Given the description of an element on the screen output the (x, y) to click on. 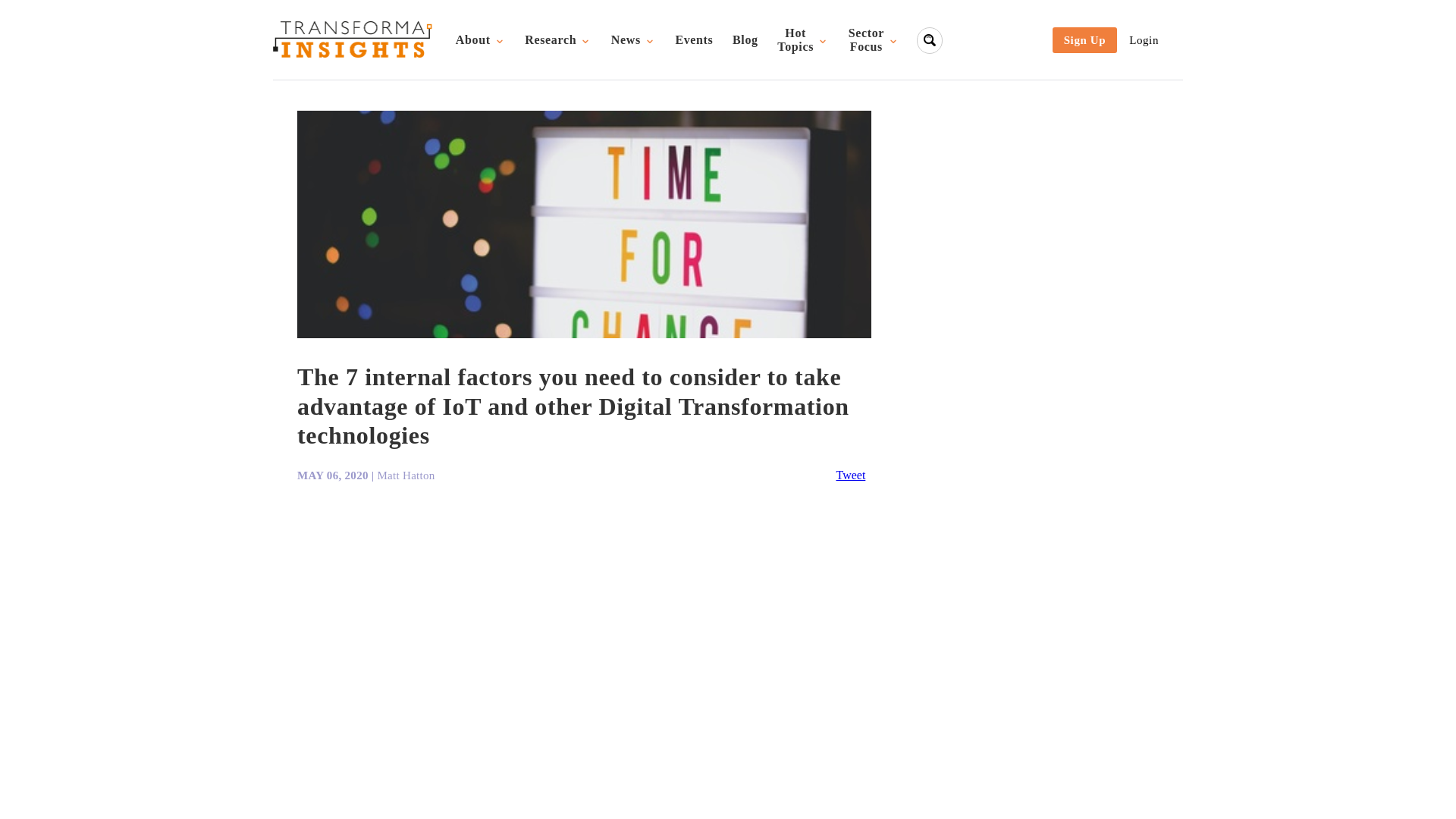
Blog (744, 40)
Research (558, 40)
About (480, 40)
Events (803, 40)
News (694, 40)
